Given the description of an element on the screen output the (x, y) to click on. 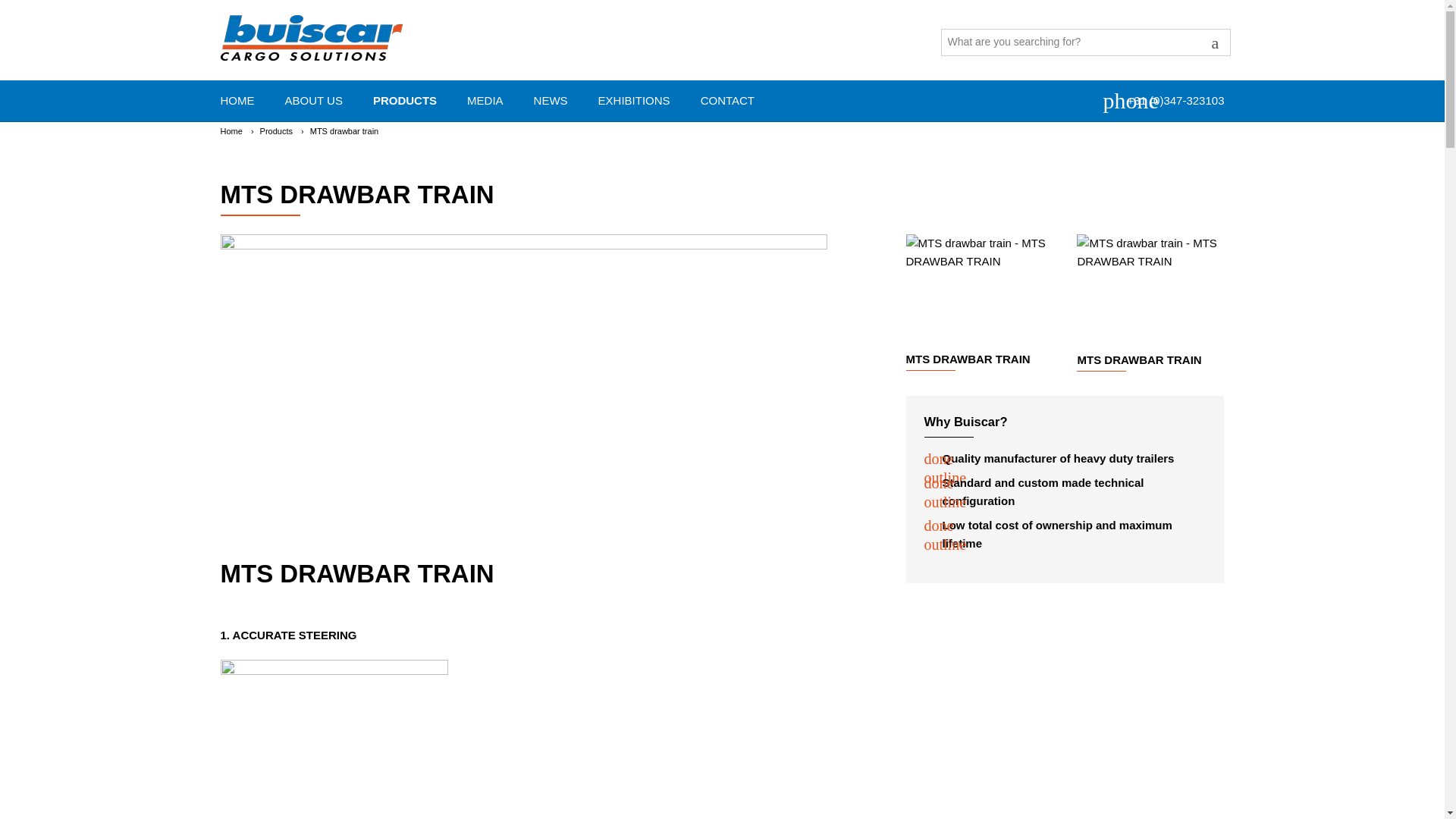
MTS drawbar train (344, 130)
Call us directly (1163, 100)
ABOUT US (325, 100)
Products (722, 100)
CONTACT (276, 130)
MTS DRAWBAR TRAIN - MTS drawbar train (739, 100)
Home (978, 288)
EXHIBITIONS (230, 130)
MTS drawbar train (646, 100)
Home Buiscar Cargo Solutions BV (344, 130)
MEDIA (230, 130)
HOME (497, 100)
NEWS (248, 100)
Products (563, 100)
